Given the description of an element on the screen output the (x, y) to click on. 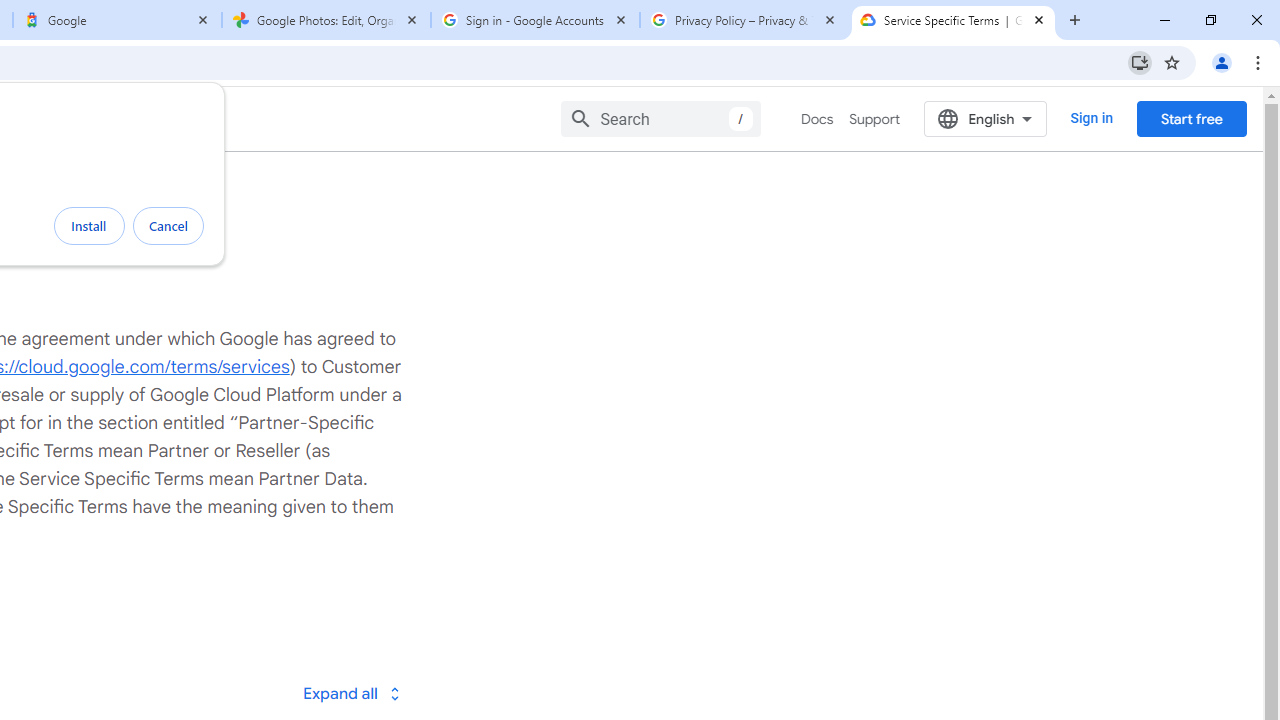
Support (874, 119)
Docs (817, 119)
Toggle all (351, 692)
Install Google Cloud (1139, 62)
